Given the description of an element on the screen output the (x, y) to click on. 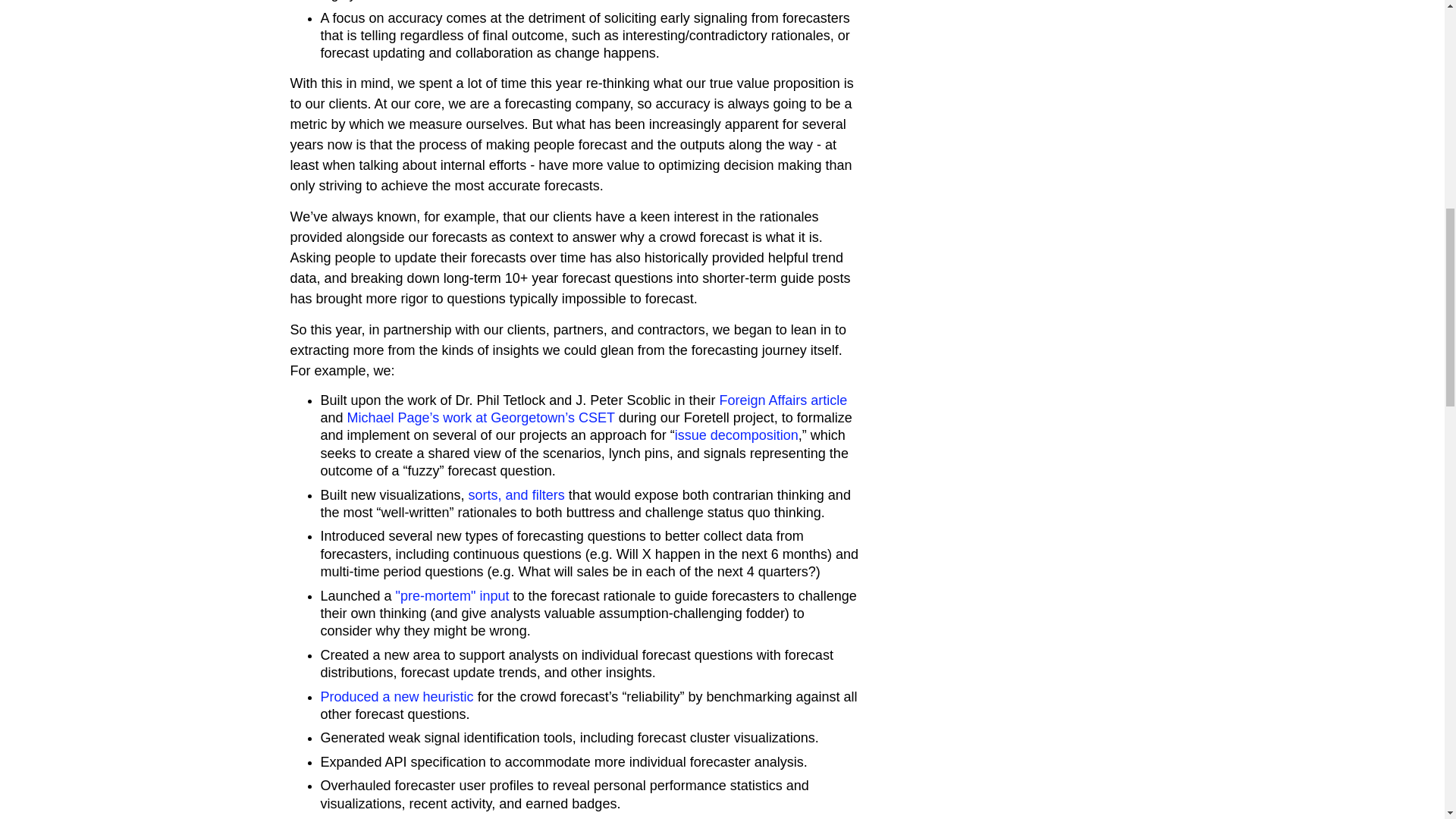
"pre-mortem" input (452, 595)
Foreign Affairs article (783, 400)
Produced a new heuristic (396, 696)
sorts, and filters (516, 494)
issue decomposition (736, 435)
